Given the description of an element on the screen output the (x, y) to click on. 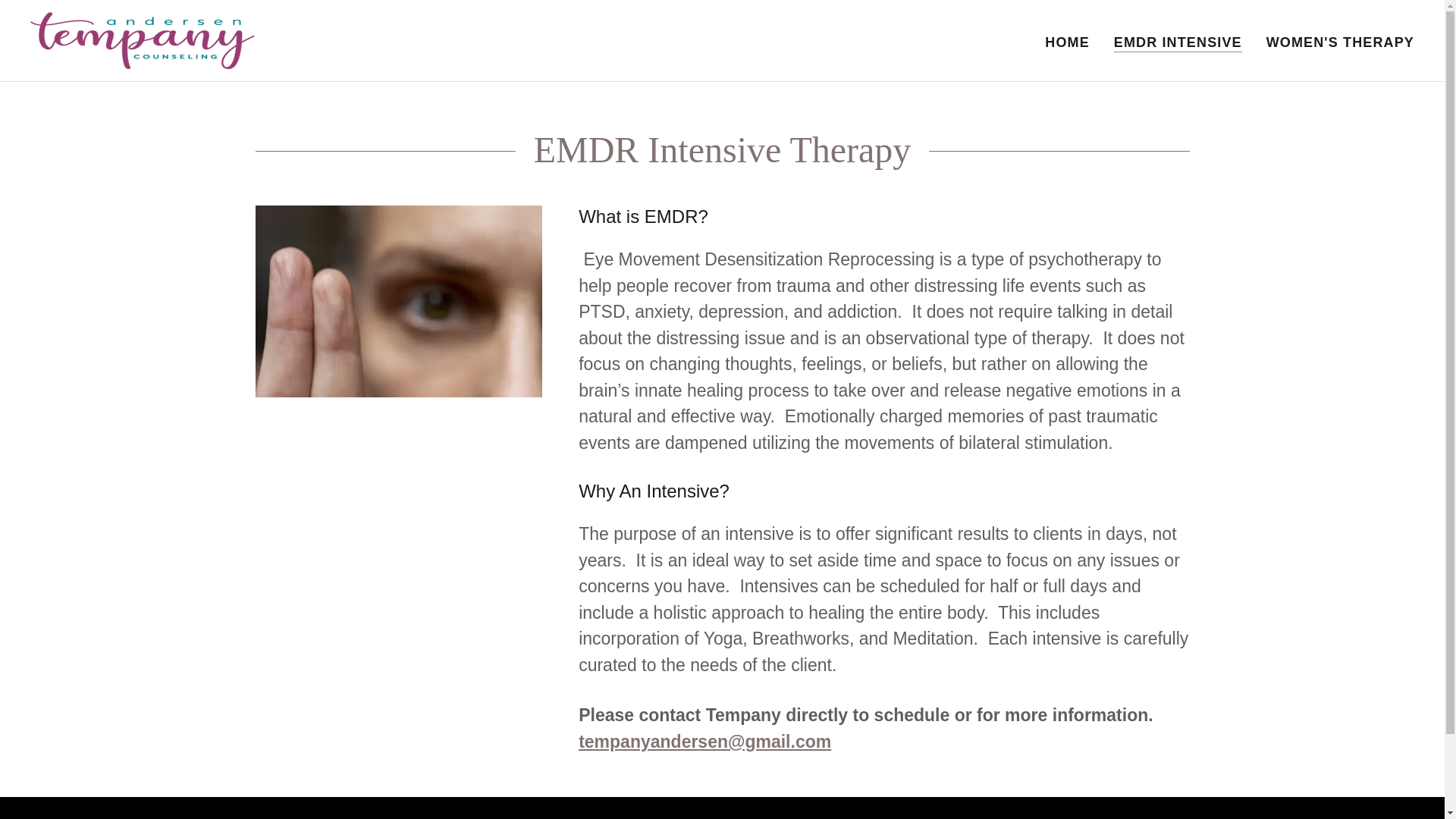
HOME (1067, 42)
EMDR INTENSIVE (1177, 42)
WOMEN'S THERAPY (1340, 42)
Tempany L. Andersen (142, 38)
